Given the description of an element on the screen output the (x, y) to click on. 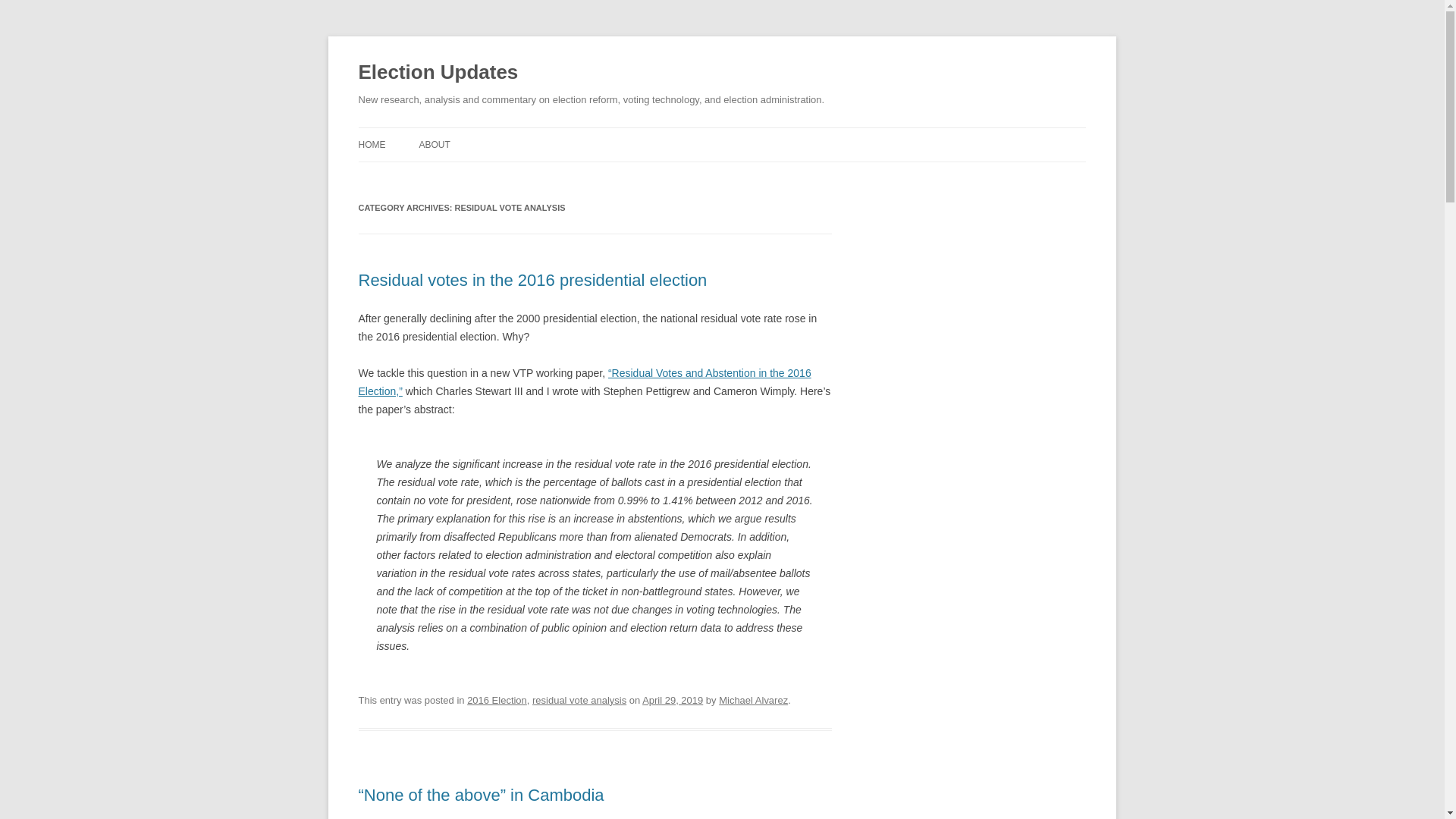
8:42 am (672, 699)
2016 Election (497, 699)
ABOUT (434, 144)
residual vote analysis (579, 699)
View all posts by Michael Alvarez (753, 699)
Michael Alvarez (753, 699)
Election Updates (438, 72)
Residual votes in the 2016 presidential election (532, 280)
April 29, 2019 (672, 699)
